Given the description of an element on the screen output the (x, y) to click on. 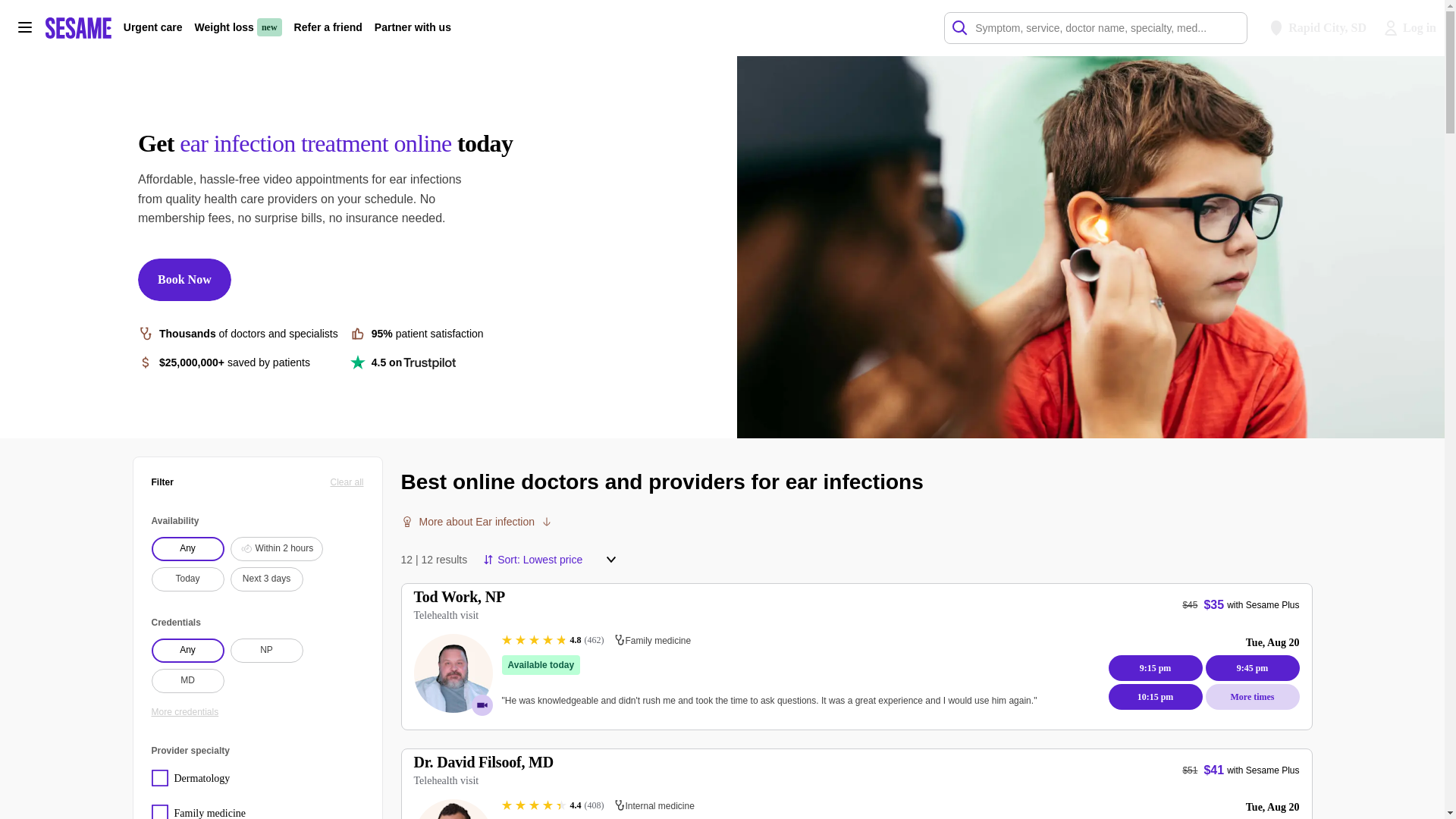
Option unchecked (199, 777)
Back to homepage (78, 27)
This provider has an overall rating of 4.8 out of 5 stars. (553, 639)
Unchecked (159, 777)
Unchecked (159, 811)
Option unchecked (199, 811)
Menu closed (611, 559)
This provider has an overall rating of 4.4 out of 5 stars. (553, 805)
